Given the description of an element on the screen output the (x, y) to click on. 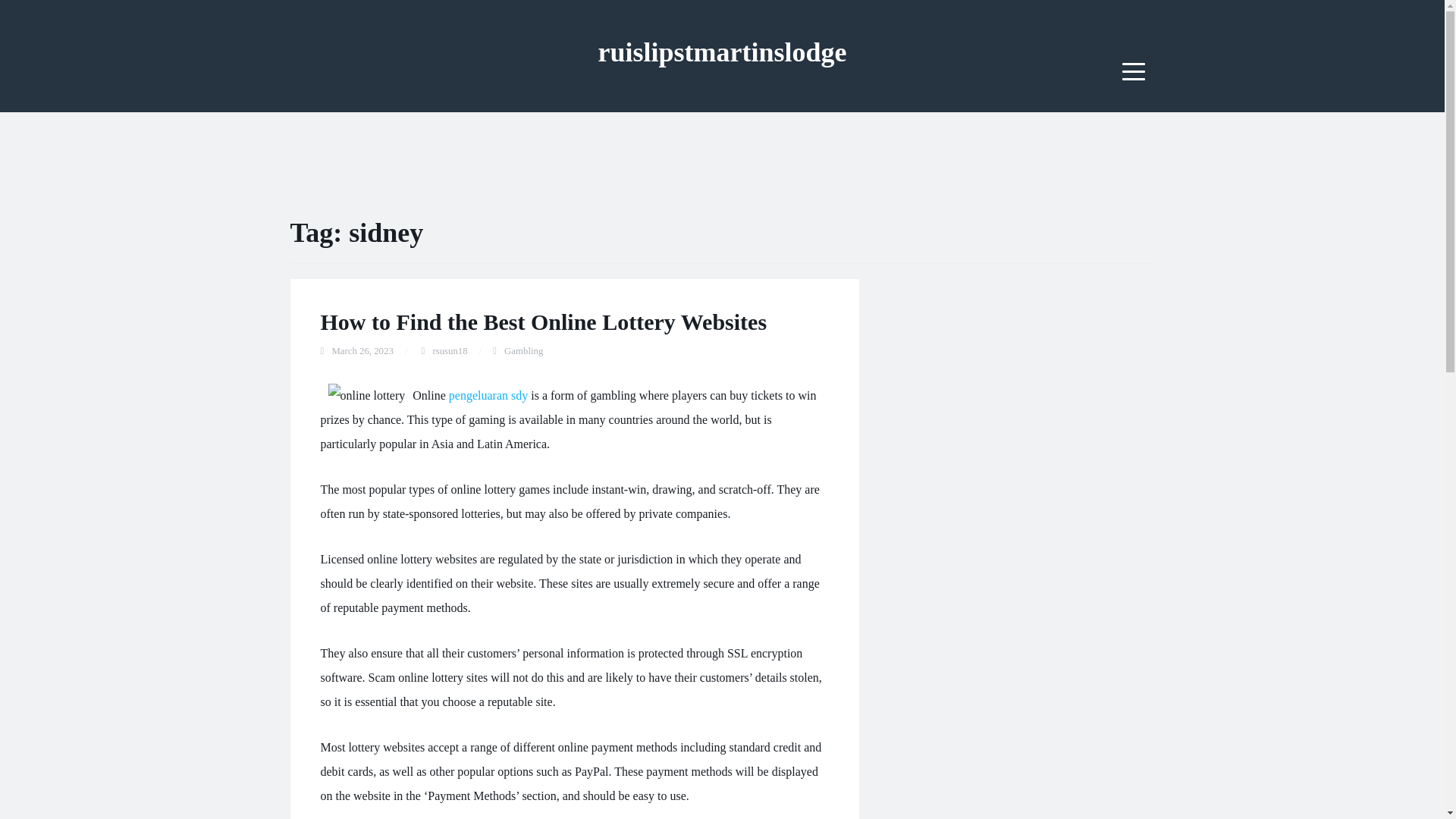
ruislipstmartinslodge (720, 51)
pengeluaran sdy (487, 395)
Gambling (523, 350)
rsusun18 (449, 350)
Menu (1133, 71)
March 26, 2023 (362, 350)
How to Find the Best Online Lottery Websites (543, 321)
